Given the description of an element on the screen output the (x, y) to click on. 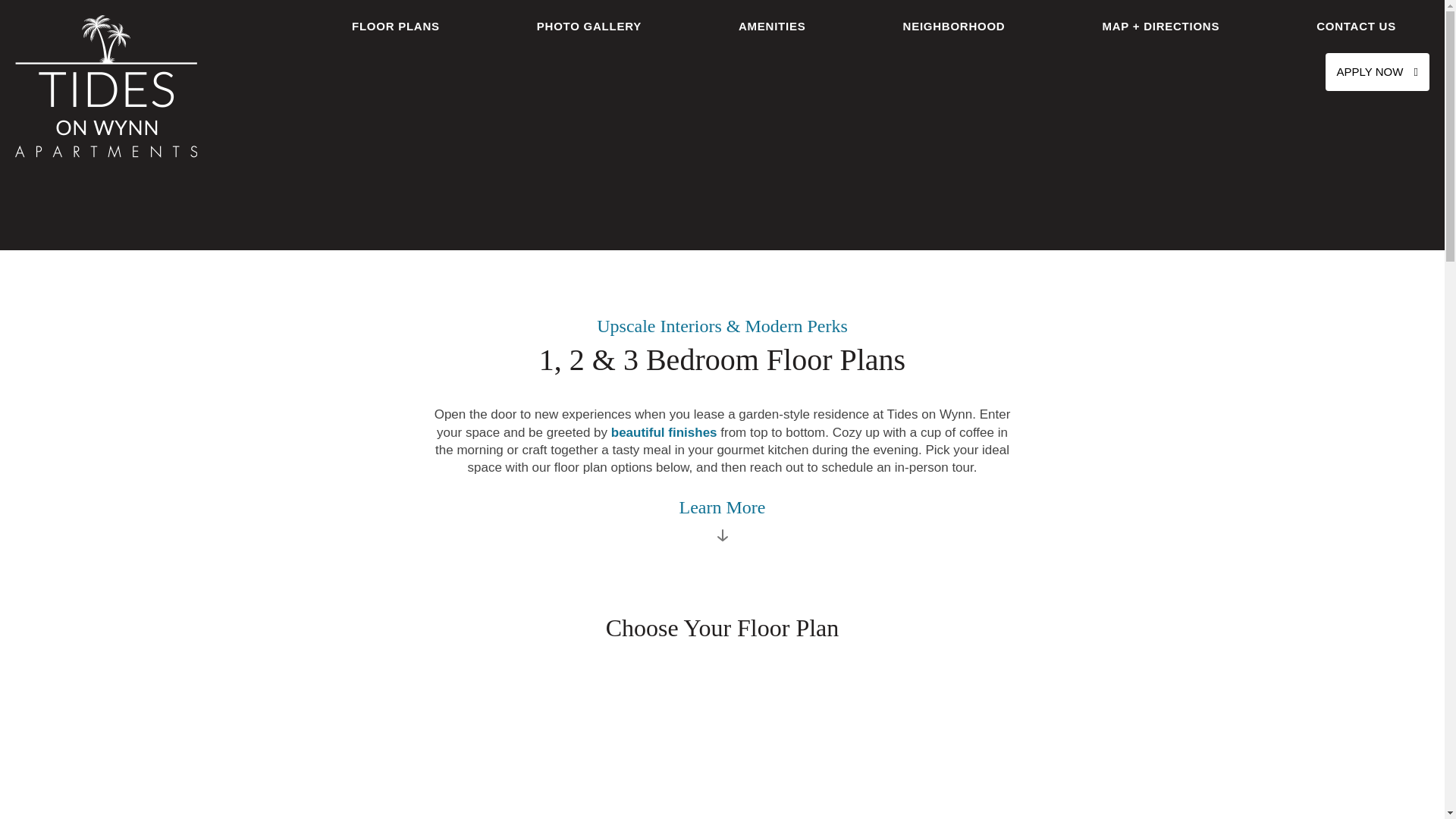
AMENITIES (772, 26)
beautiful finishes (664, 432)
PHOTO GALLERY (588, 26)
NEIGHBORHOOD (954, 26)
APPLY NOW (1376, 71)
FLOOR PLANS (394, 26)
